Given the description of an element on the screen output the (x, y) to click on. 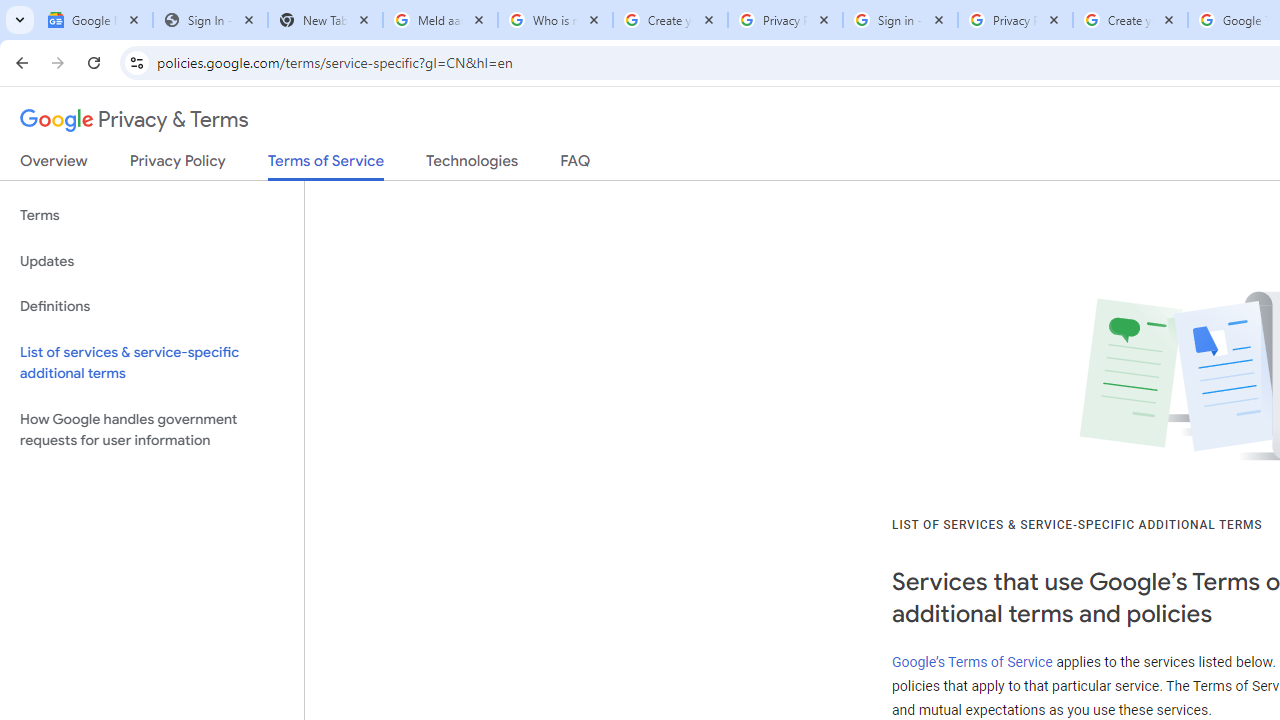
Terms of Service (326, 166)
How Google handles government requests for user information (152, 429)
Definitions (152, 306)
Technologies (472, 165)
FAQ (575, 165)
New Tab (324, 20)
Google News (95, 20)
Updates (152, 261)
Sign In - USA TODAY (209, 20)
Who is my administrator? - Google Account Help (555, 20)
